Given the description of an element on the screen output the (x, y) to click on. 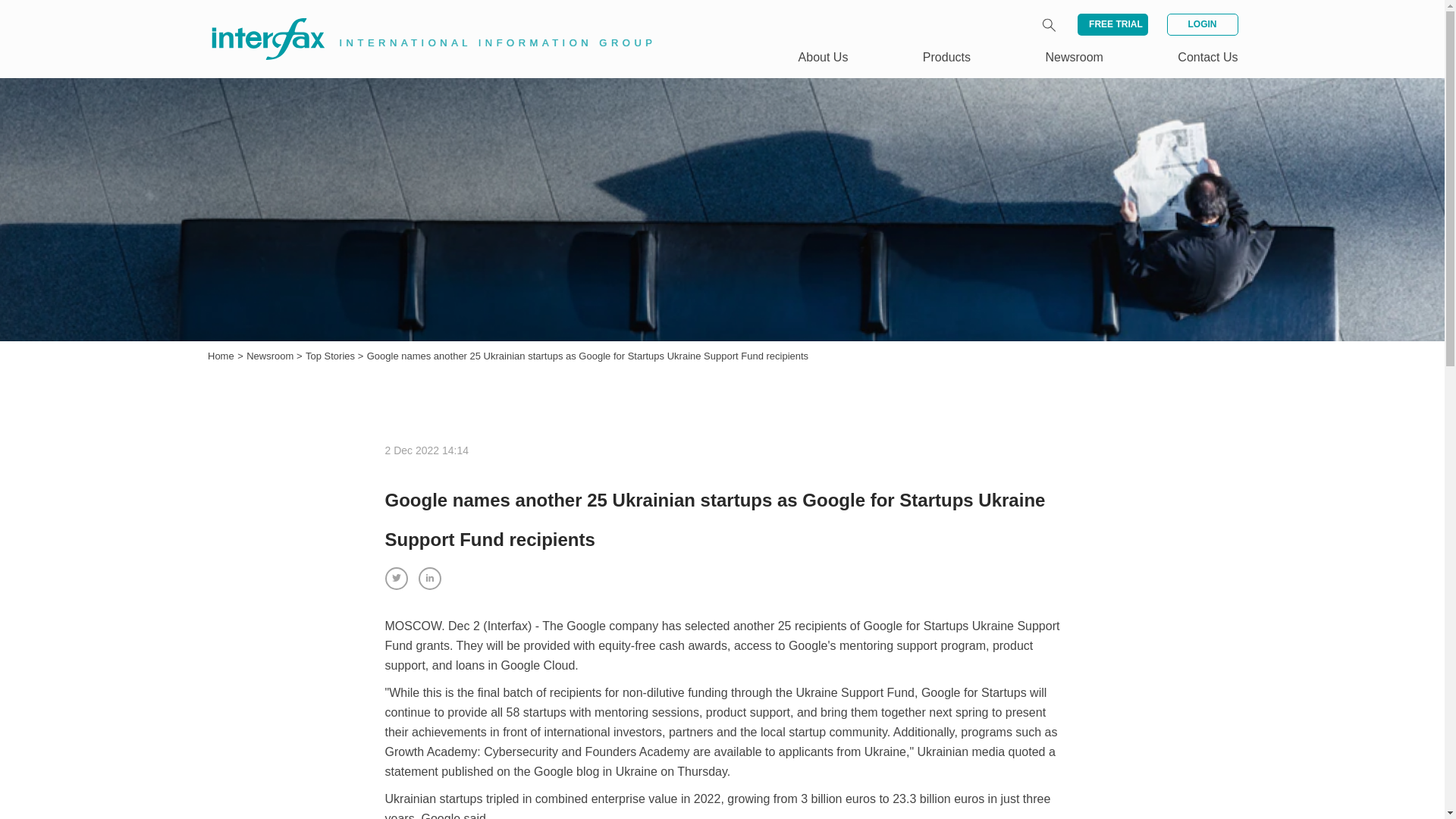
Newsroom (1073, 56)
Contact Us (1207, 56)
Products (947, 56)
INTERNATIONAL INFORMATION GROUP (421, 20)
LOGIN (1201, 24)
Top Stories (331, 355)
About Us (822, 56)
Contact Us (1207, 56)
Newsroom (271, 355)
FREE TRIAL (1112, 24)
